Given the description of an element on the screen output the (x, y) to click on. 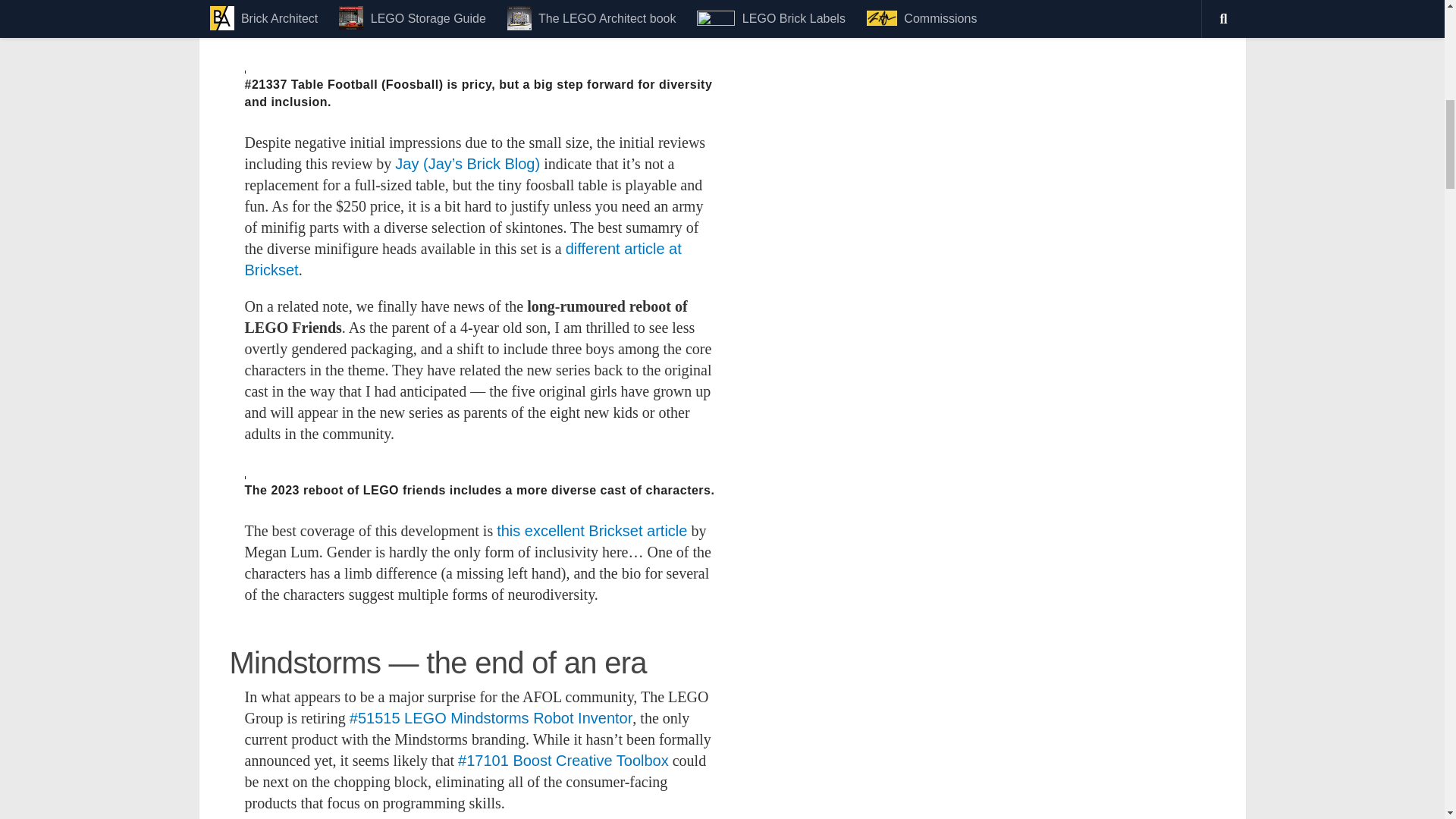
different article at Brickset (462, 259)
this excellent Brickset article (591, 530)
